Given the description of an element on the screen output the (x, y) to click on. 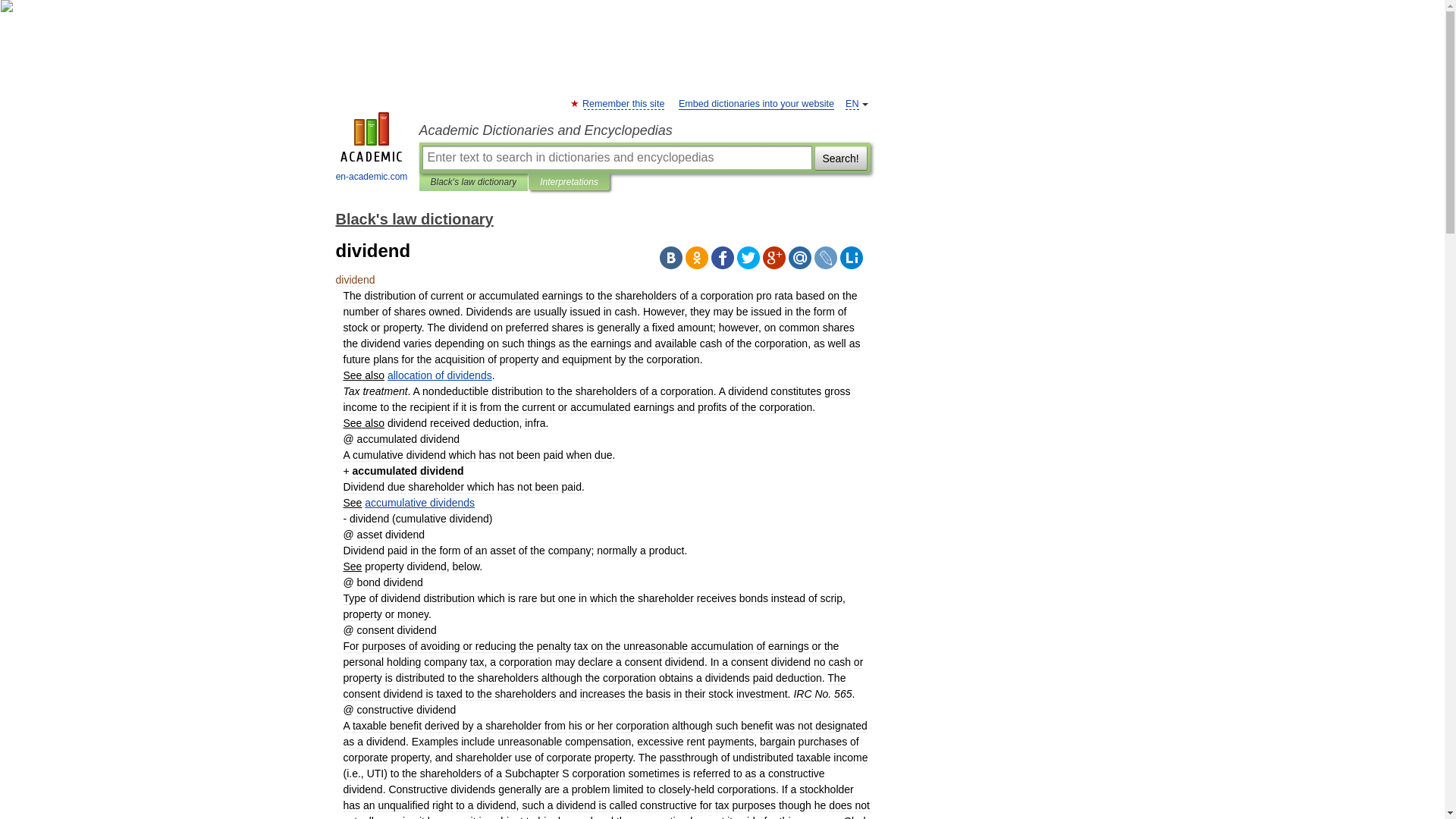
Black's law dictionary (413, 218)
Black's law dictionary (473, 181)
allocation of dividends (439, 375)
Embed dictionaries into your website (756, 103)
Academic Dictionaries and Encyclopedias (644, 130)
Remember this site (623, 103)
Search! (840, 157)
en-academic.com (371, 148)
Enter text to search in dictionaries and encyclopedias (616, 157)
Interpretations (569, 181)
accumulative dividends (419, 502)
EN (852, 103)
